Given the description of an element on the screen output the (x, y) to click on. 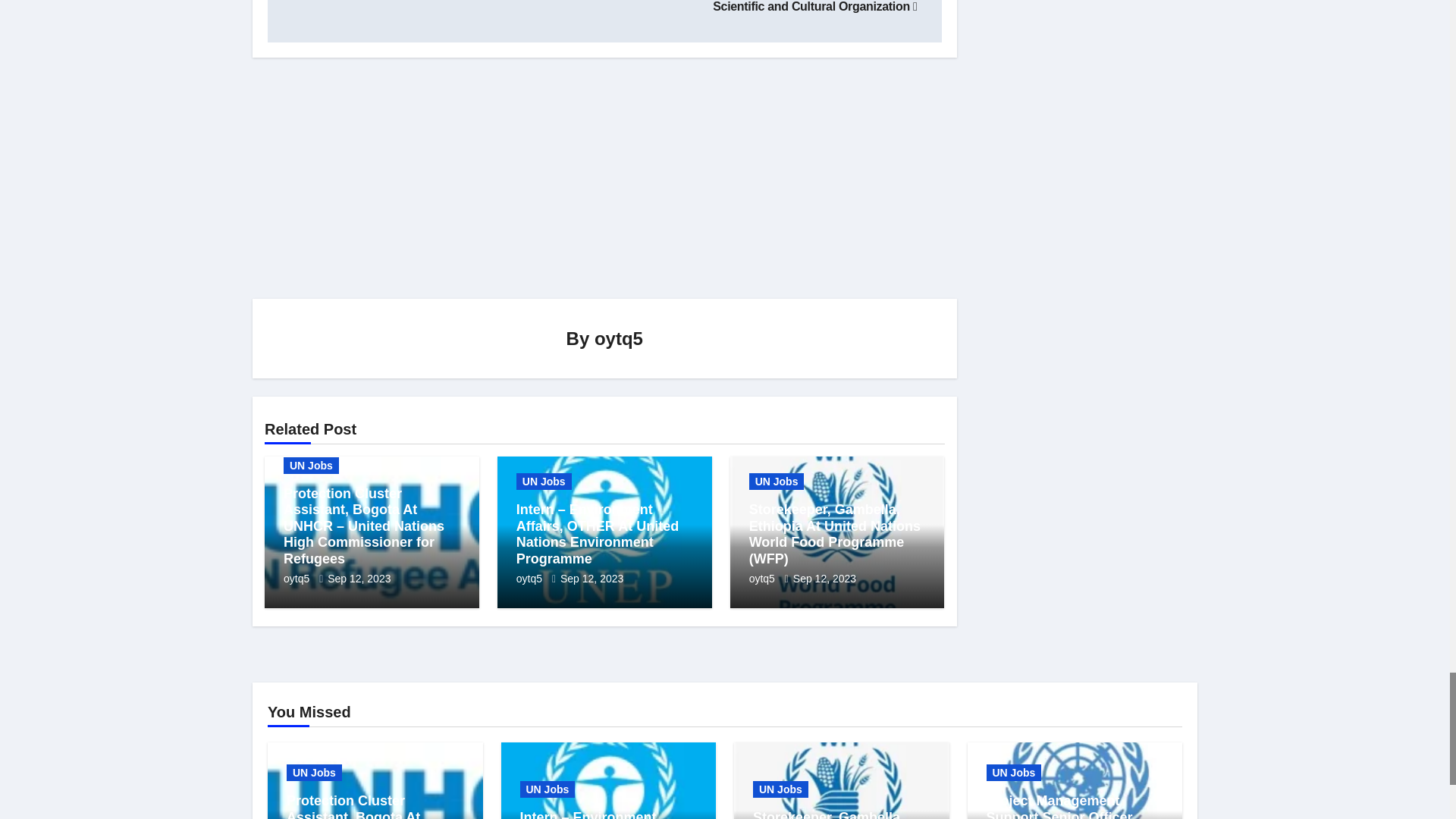
UN Jobs (544, 481)
oytq5 (618, 338)
Sep 12, 2023 (591, 578)
UN Jobs (311, 465)
UN Jobs (777, 481)
Sep 12, 2023 (358, 578)
oytq5 (298, 578)
oytq5 (530, 578)
